Given the description of an element on the screen output the (x, y) to click on. 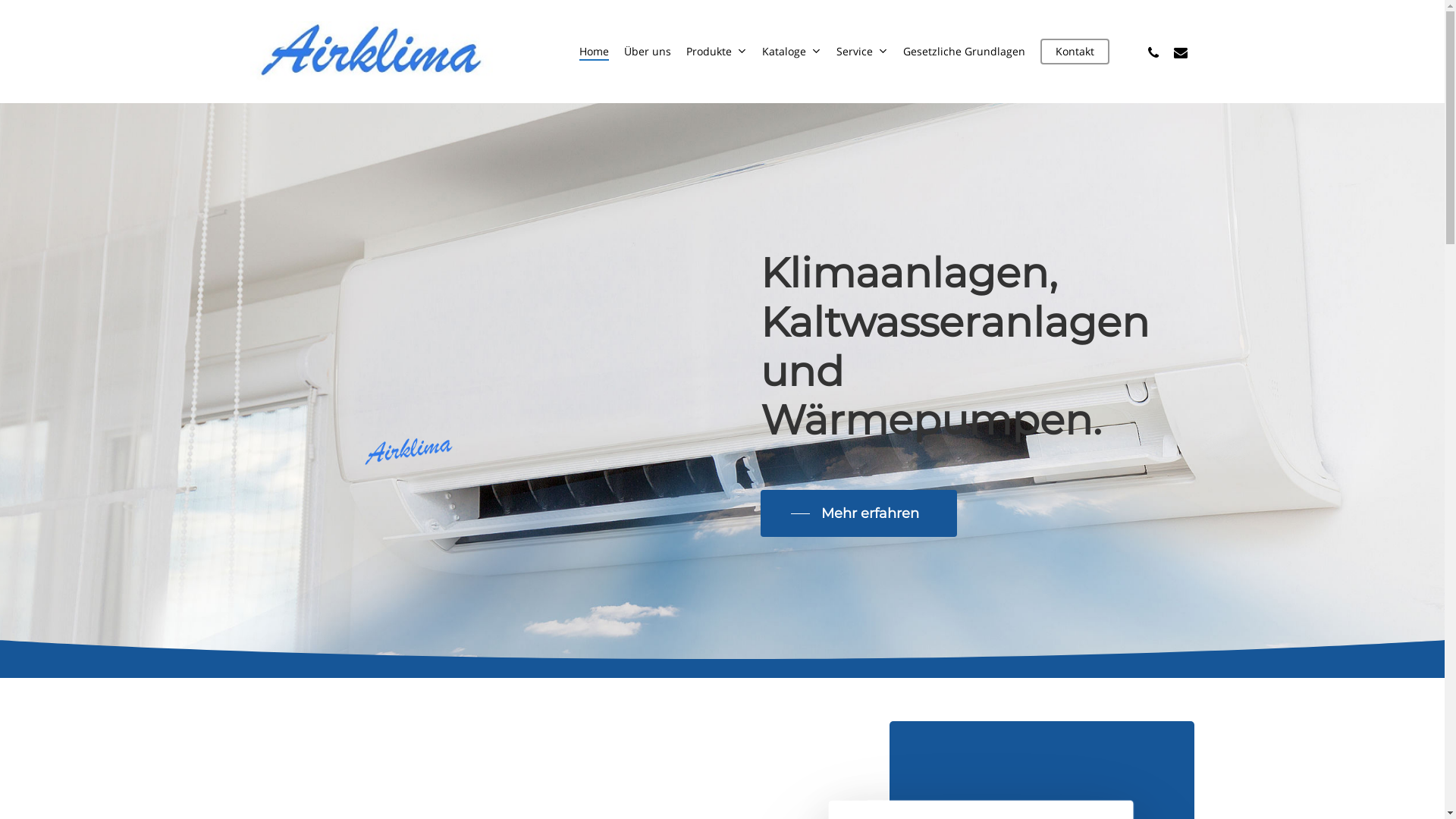
Home Element type: text (593, 51)
Produkte Element type: text (716, 51)
Mehr erfahren Element type: text (858, 513)
Kontakt Element type: text (1074, 51)
Kataloge Element type: text (791, 51)
email Element type: text (1180, 50)
Gesetzliche Grundlagen Element type: text (964, 51)
phone Element type: text (1153, 50)
Service Element type: text (862, 51)
